Given the description of an element on the screen output the (x, y) to click on. 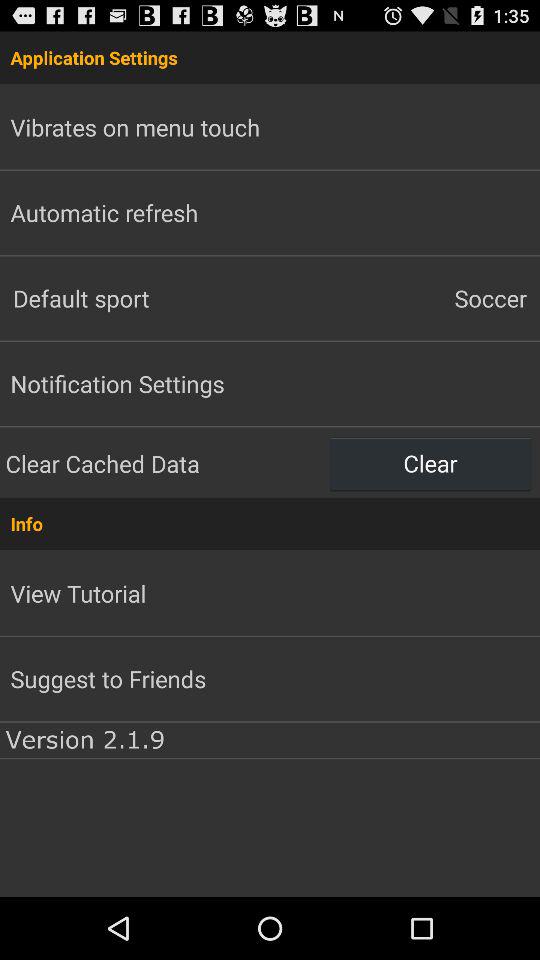
launch the application settings app (270, 57)
